Given the description of an element on the screen output the (x, y) to click on. 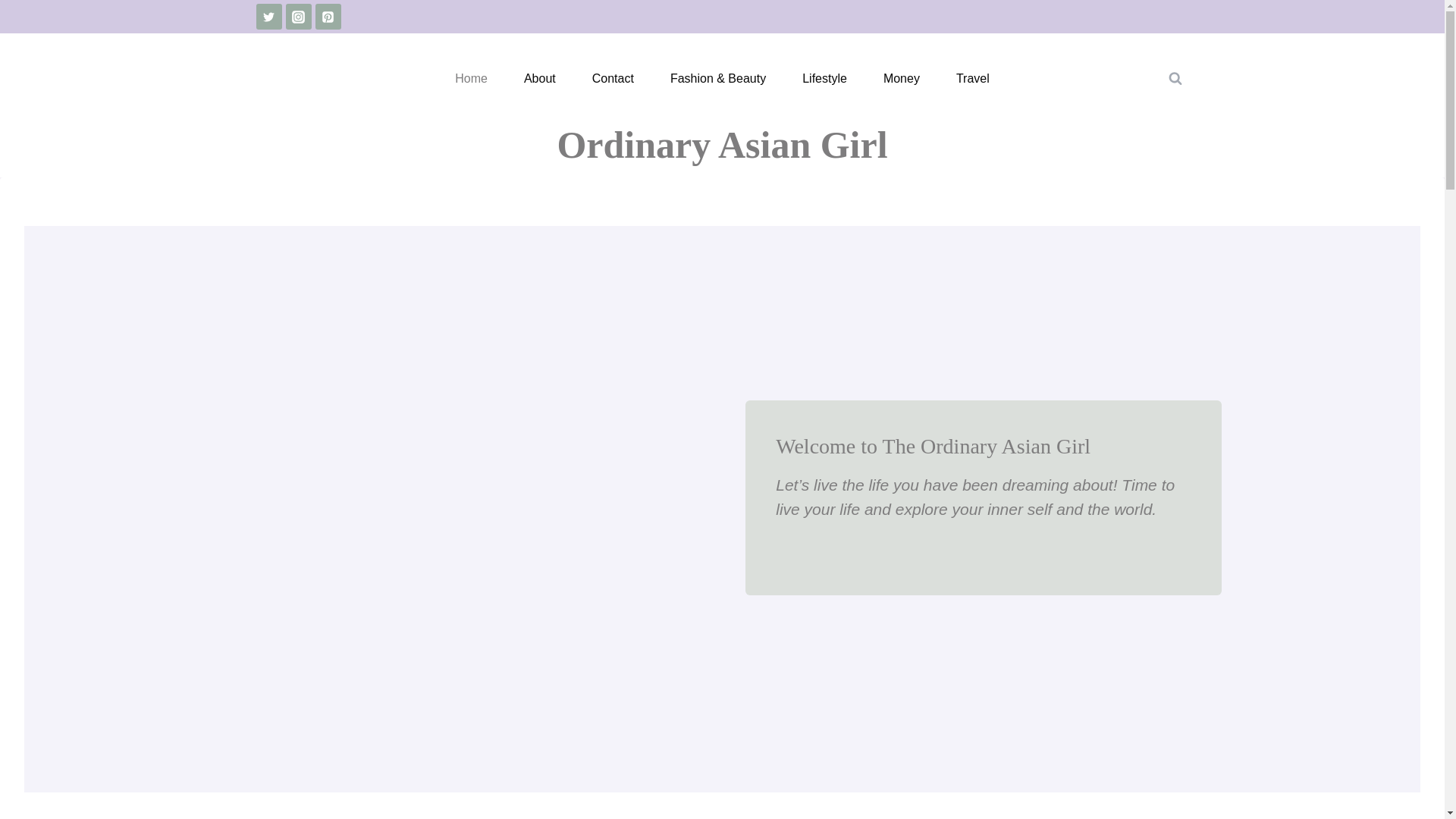
Ordinary Asian Girl (721, 144)
Lifestyle (824, 79)
Contact (612, 79)
Travel (972, 79)
Money (900, 79)
Home (470, 79)
About (539, 79)
